Given the description of an element on the screen output the (x, y) to click on. 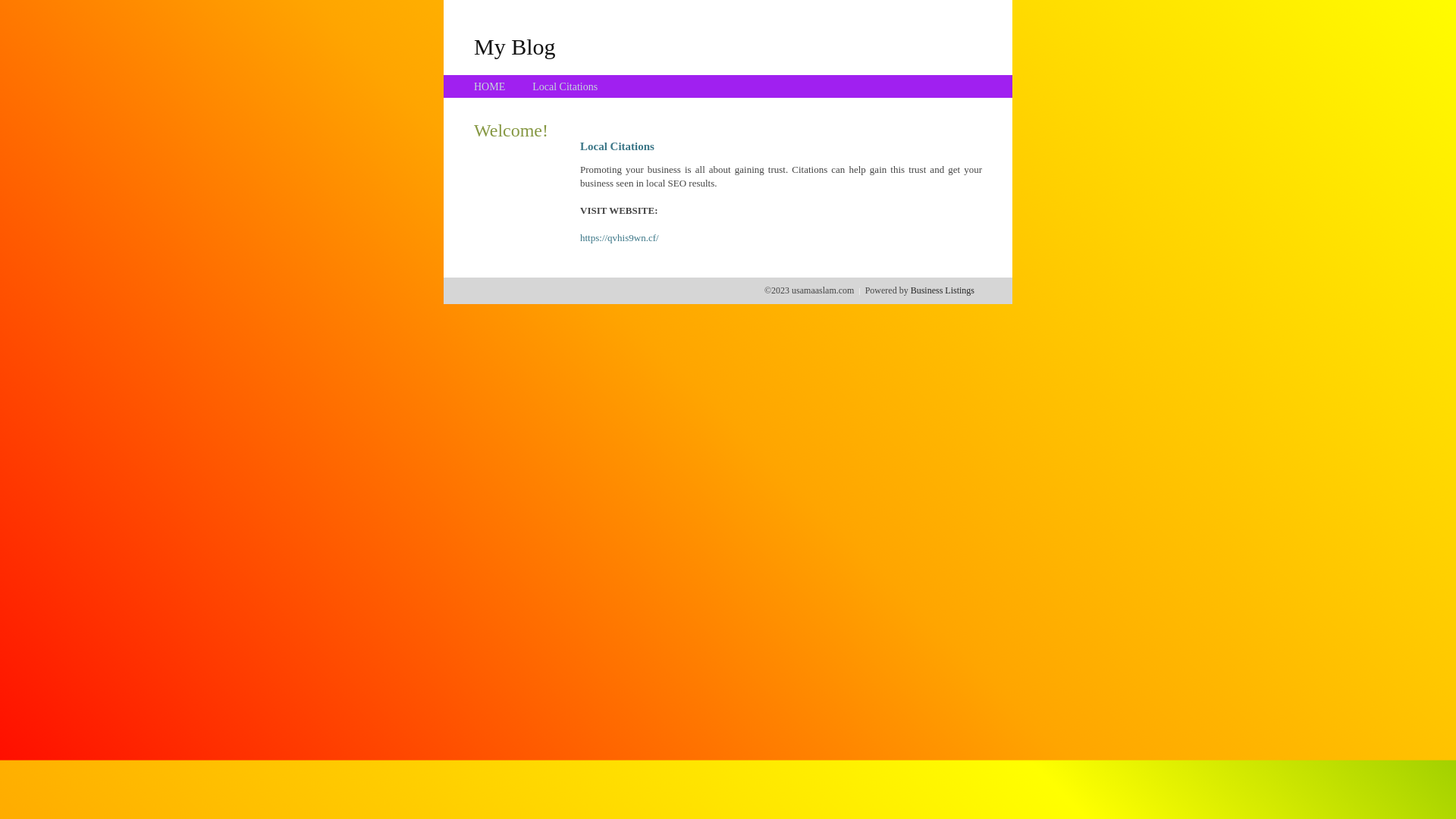
My Blog Element type: text (514, 46)
https://qvhis9wn.cf/ Element type: text (619, 237)
HOME Element type: text (489, 86)
Business Listings Element type: text (942, 290)
Local Citations Element type: text (564, 86)
